Given the description of an element on the screen output the (x, y) to click on. 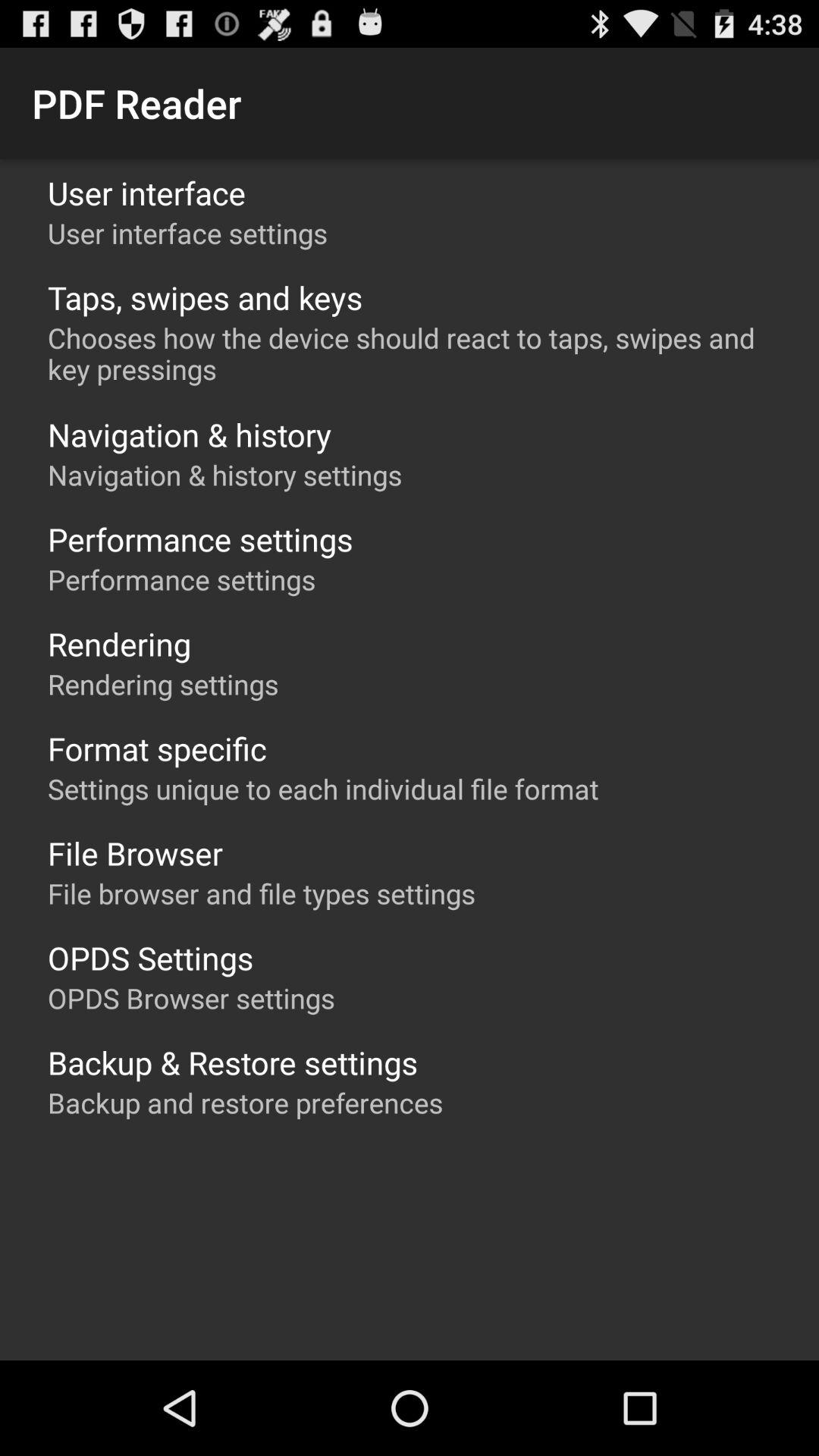
turn off item above format specific item (162, 683)
